Given the description of an element on the screen output the (x, y) to click on. 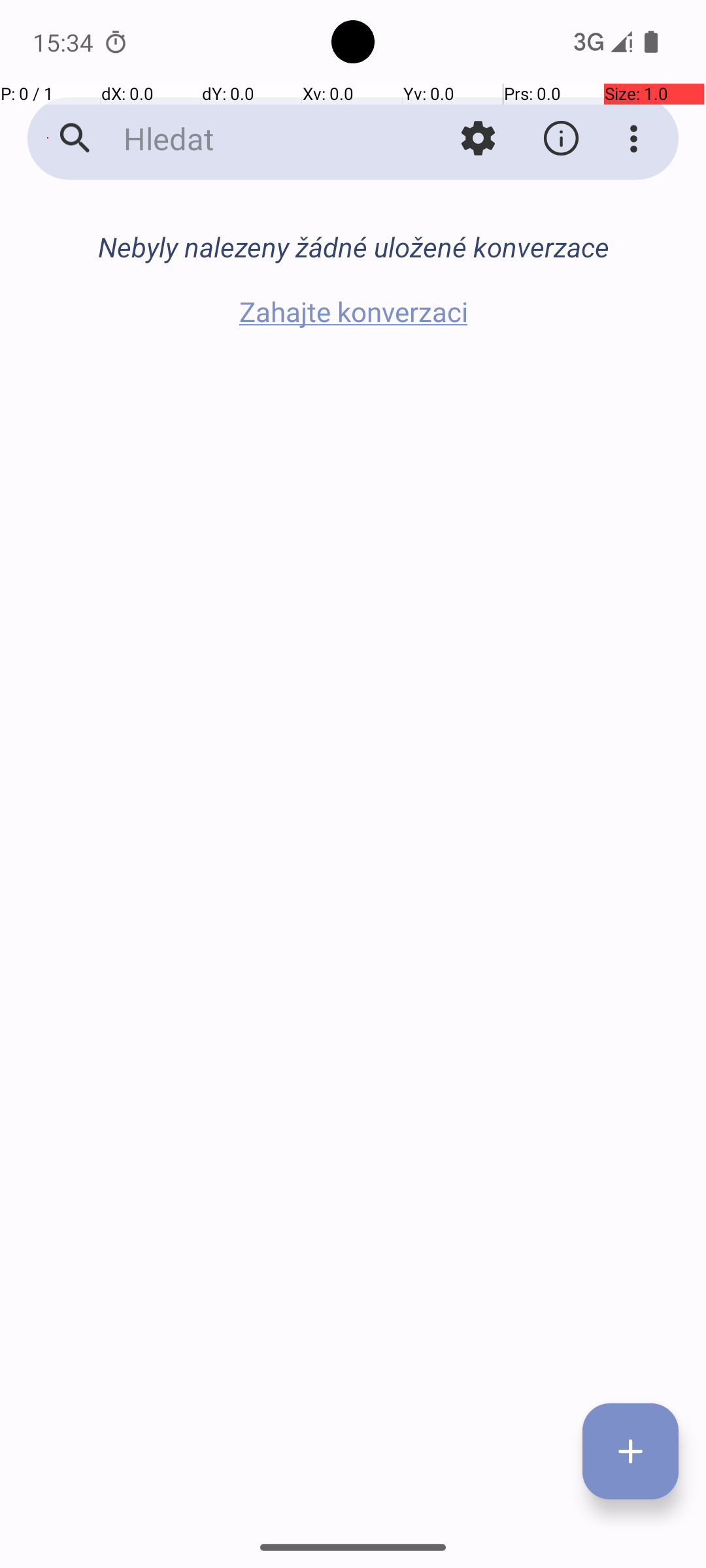
O aplikaci Element type: android.widget.Button (560, 138)
Nebyly nalezeny žádné uložené konverzace Element type: android.widget.TextView (353, 246)
Zahajte konverzaci Element type: android.widget.TextView (352, 311)
